Given the description of an element on the screen output the (x, y) to click on. 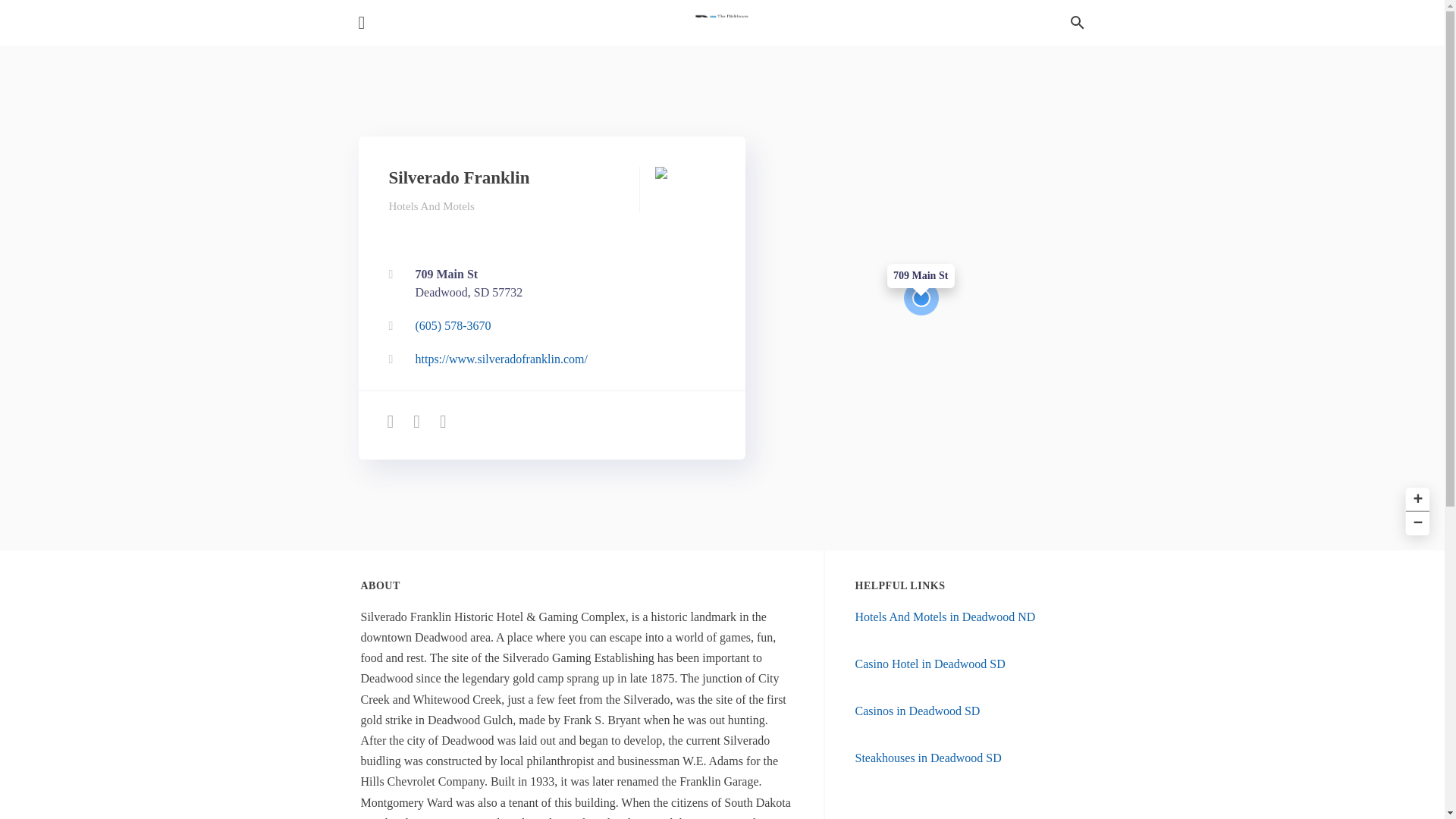
Casinos in Deadwood SD (547, 283)
Search business collapsed (917, 710)
Zoom out (1076, 22)
Get directions (1415, 521)
Zoom in (547, 283)
Steakhouses in Deadwood SD (1415, 496)
Casino Hotel in Deadwood SD (928, 757)
Call Phone Number (931, 663)
Hotels And Motels in Deadwood ND (547, 326)
